Given the description of an element on the screen output the (x, y) to click on. 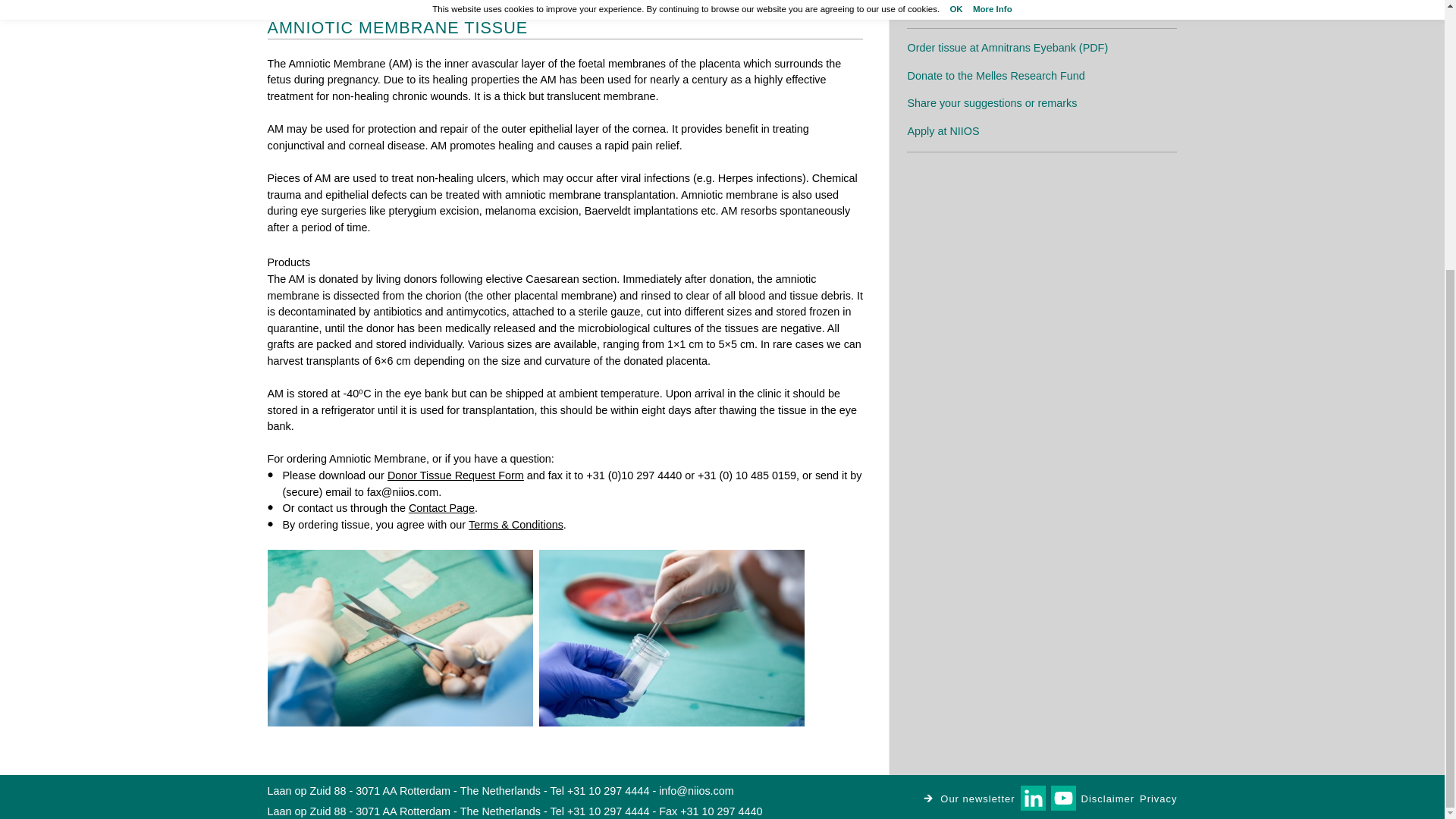
Watch us on Youtube (1063, 797)
Share your suggestions or remarks (992, 102)
Apply at NIIOS (942, 131)
Donor Tissue Request Form (455, 475)
Contact Page (441, 508)
Connect with us on LinkedIn (1032, 797)
Donate to the Melles Research Fund (995, 75)
VOOR NEDERLANDSE PATIENTEN EN VERWIJZINGEN (1050, 8)
Our newsletter (968, 797)
